Given the description of an element on the screen output the (x, y) to click on. 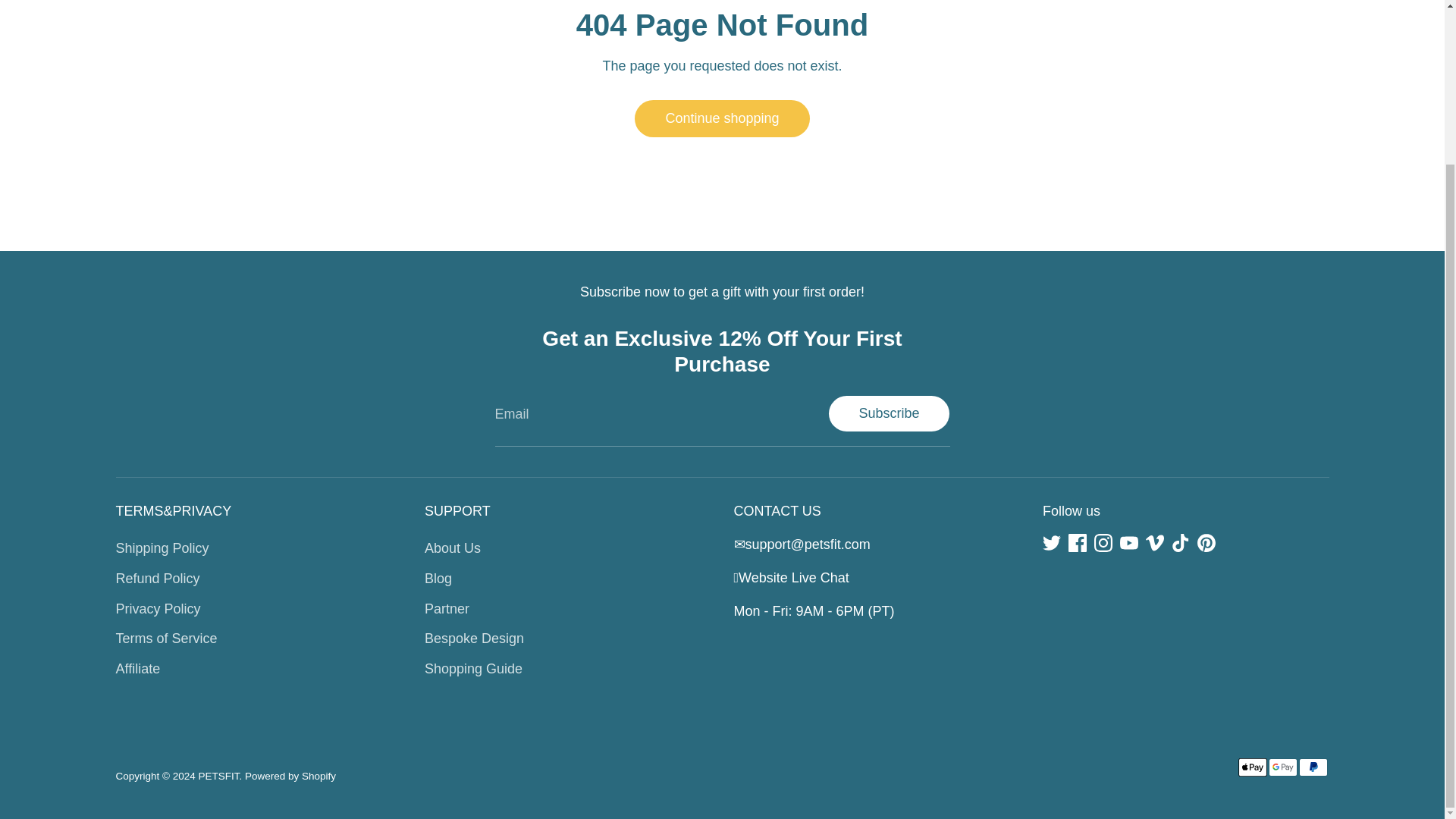
Apple Pay (1251, 767)
Google Pay (1282, 767)
PayPal (1312, 767)
